Given the description of an element on the screen output the (x, y) to click on. 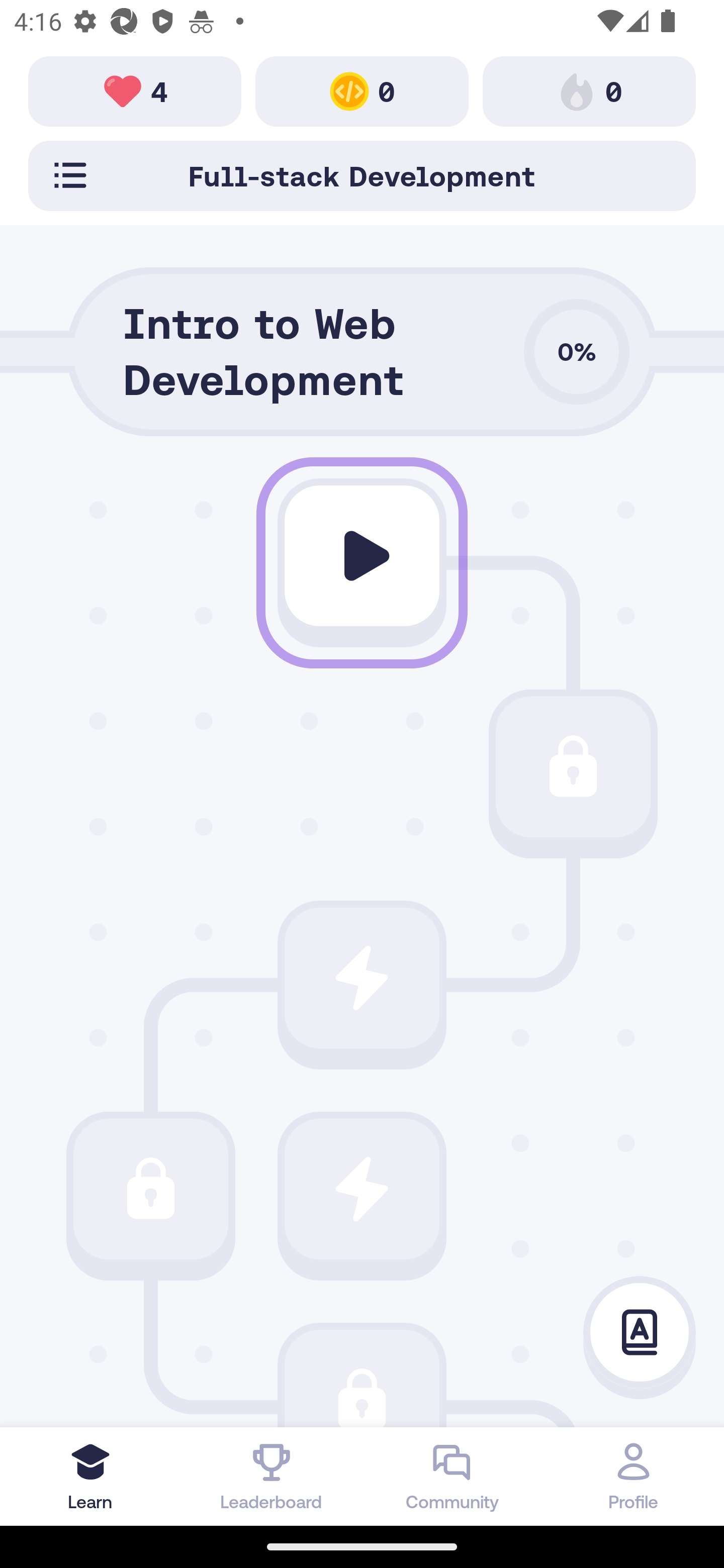
Path Toolbar Image 4 (134, 90)
Path Toolbar Image 0 (361, 90)
Path Toolbar Image 0 (588, 90)
Path Toolbar Selector Full-stack Development (361, 175)
Path Icon (361, 555)
Path Icon (572, 766)
Path Icon (361, 977)
Path Icon (150, 1188)
Path Icon (361, 1188)
Glossary Icon (639, 1332)
Path Icon (361, 1377)
Leaderboard (271, 1475)
Community (452, 1475)
Profile (633, 1475)
